Given the description of an element on the screen output the (x, y) to click on. 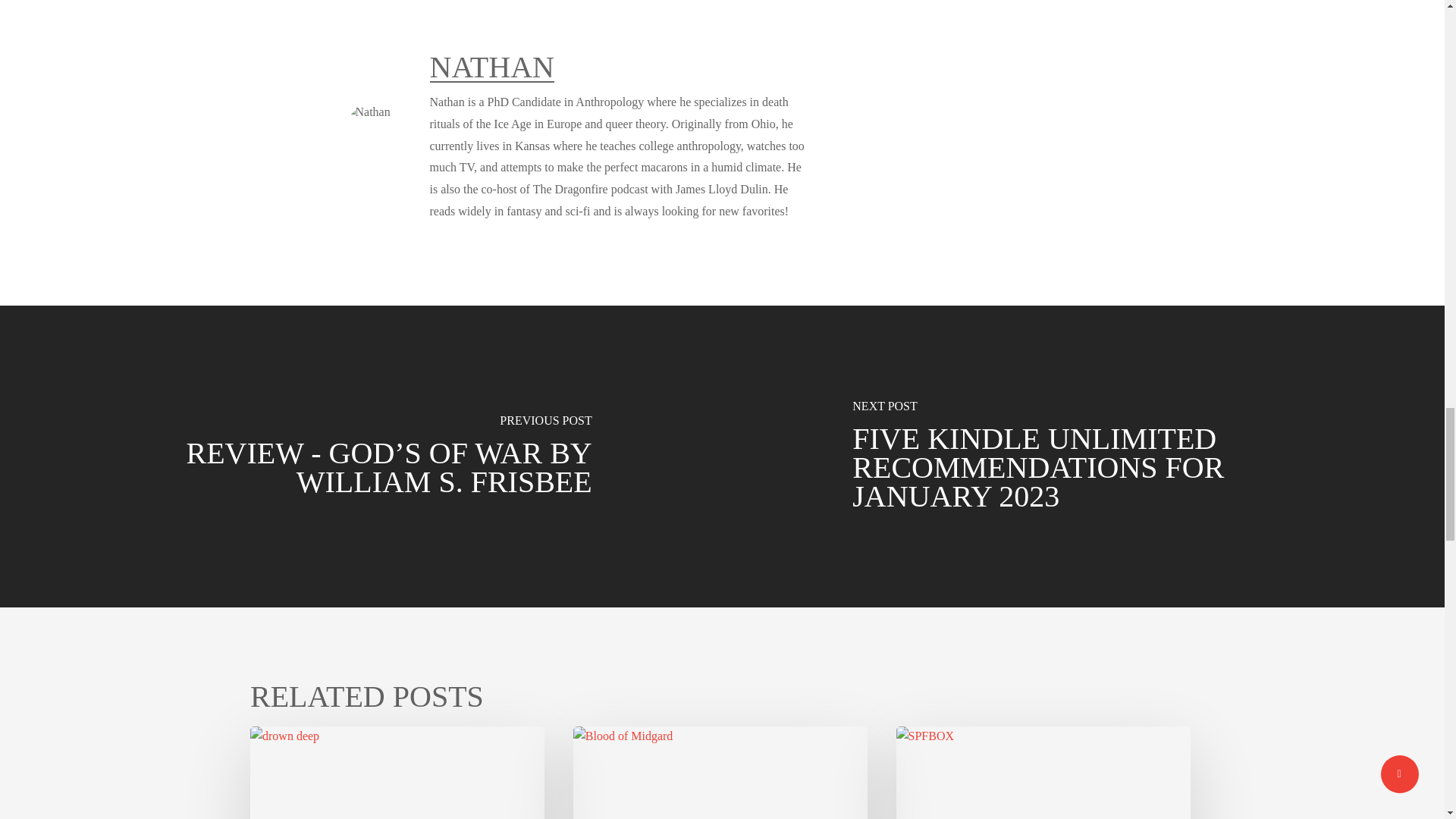
NATHAN (491, 66)
COVER REVEAL! Drown Deep by Phil Williams (397, 772)
Review: Blood of Midgard by Baptiste Pinson Wu (720, 772)
